Given the description of an element on the screen output the (x, y) to click on. 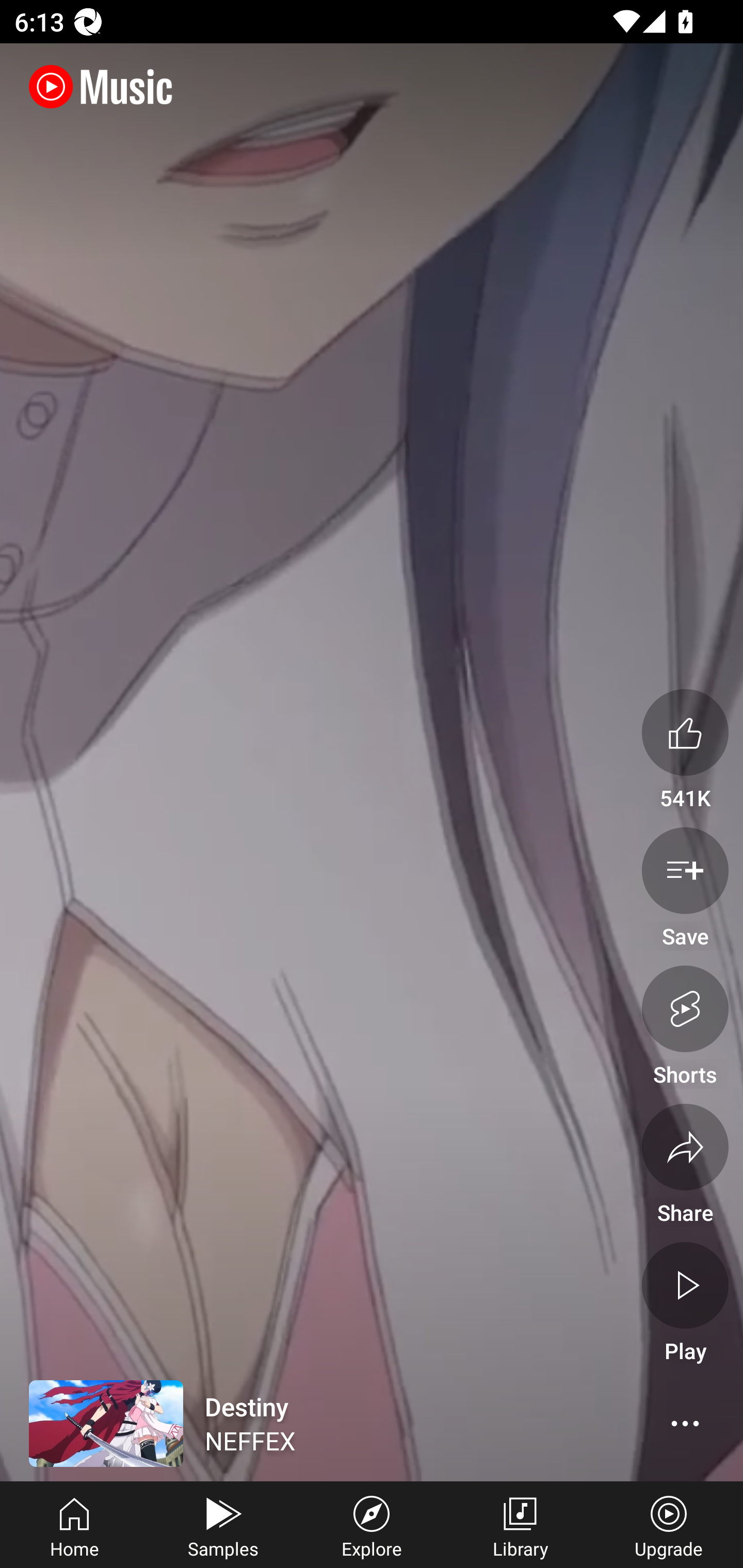
Home (74, 1524)
Explore (371, 1524)
Library (519, 1524)
Upgrade (668, 1524)
